Given the description of an element on the screen output the (x, y) to click on. 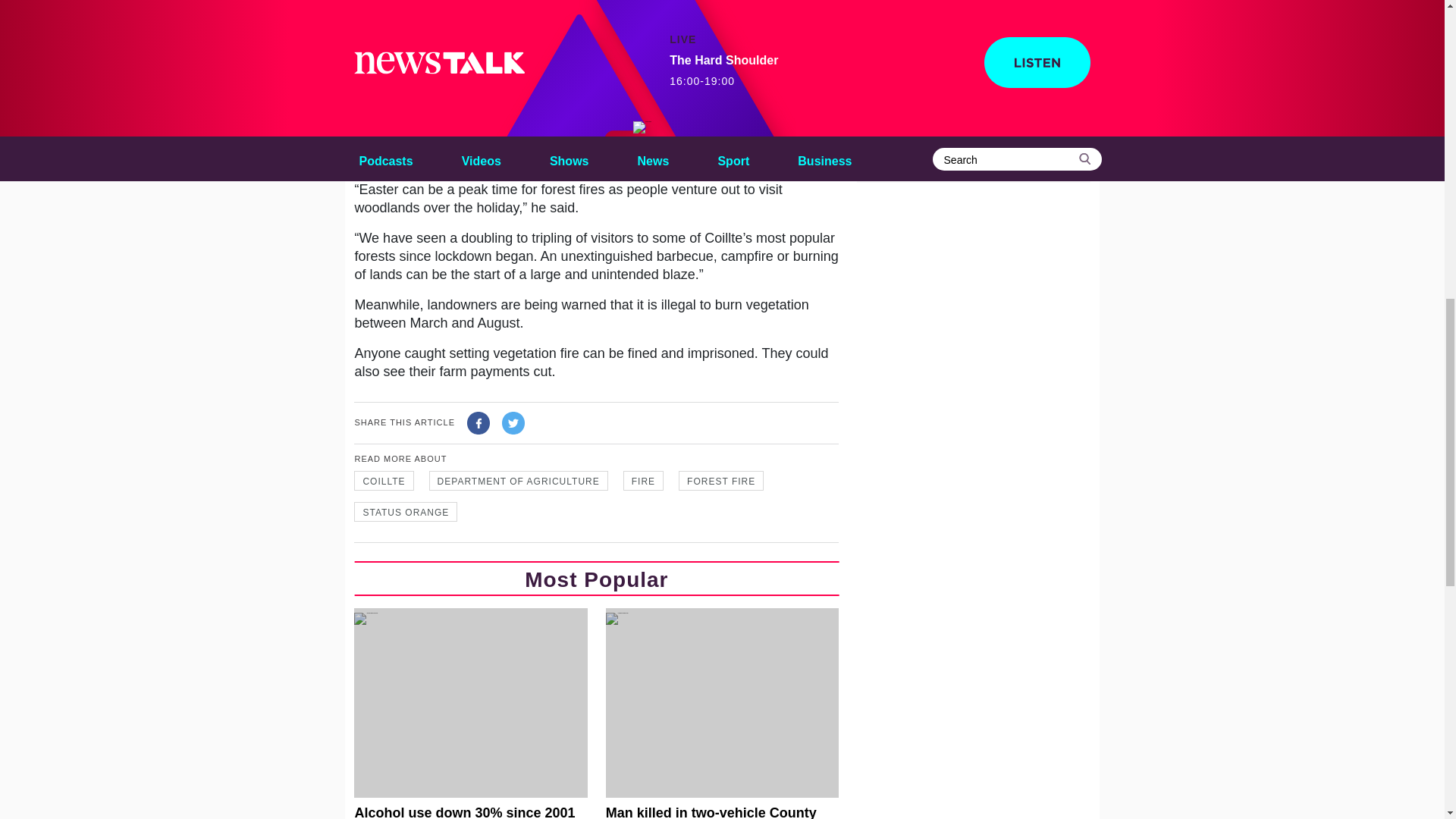
FOREST FIRE (720, 480)
COILLTE (383, 480)
DEPARTMENT OF AGRICULTURE (518, 480)
Coillte to open more forests to the public (973, 27)
Man killed in two-vehicle County Kildare crash (721, 713)
STATUS ORANGE (405, 511)
FIRE (643, 480)
